Given the description of an element on the screen output the (x, y) to click on. 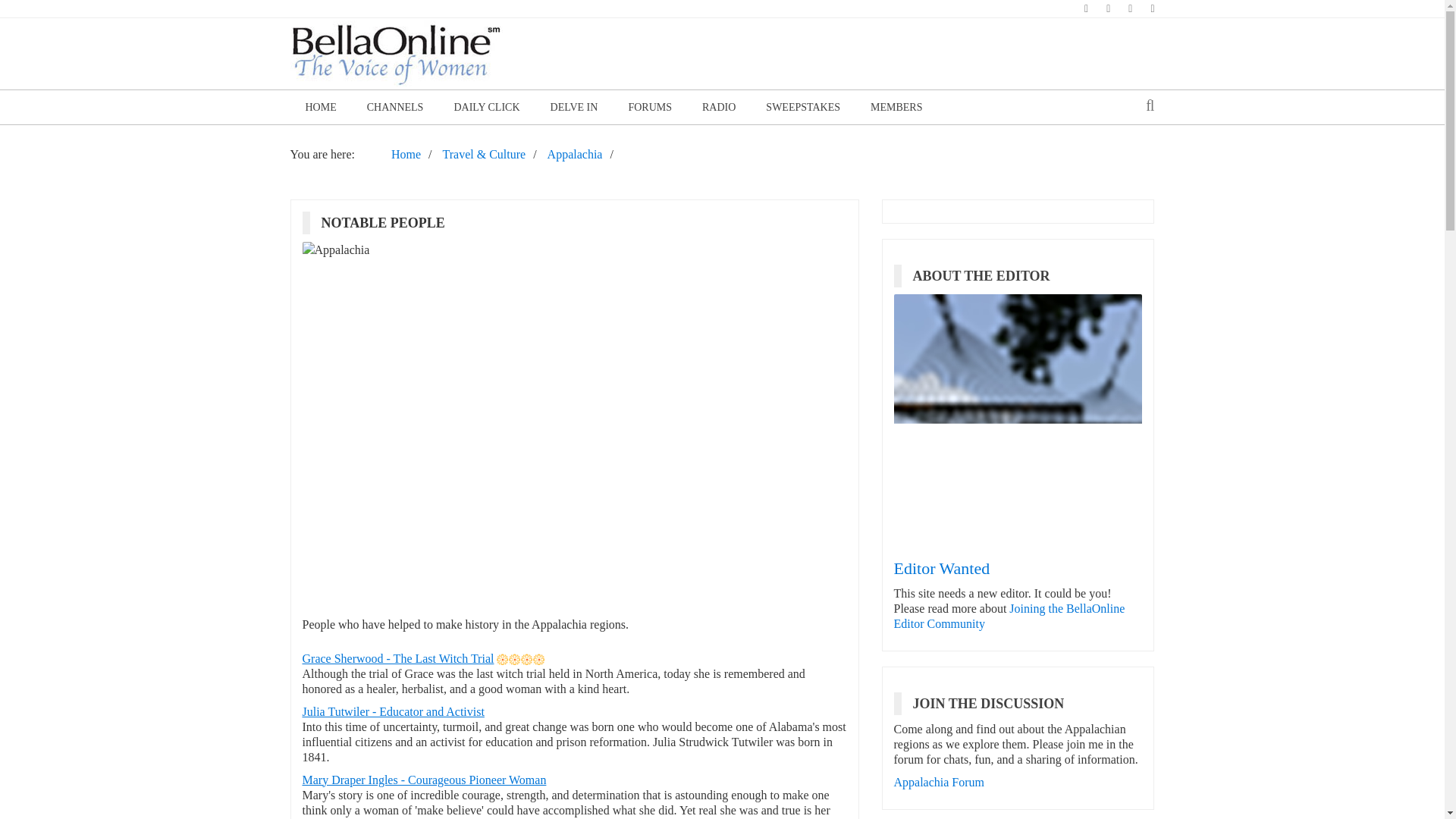
HOME (319, 107)
FORUMS (649, 107)
DAILY CLICK (486, 107)
CHANNELS (395, 107)
SWEEPSTAKES (803, 107)
DELVE IN (573, 107)
RADIO (719, 107)
